Given the description of an element on the screen output the (x, y) to click on. 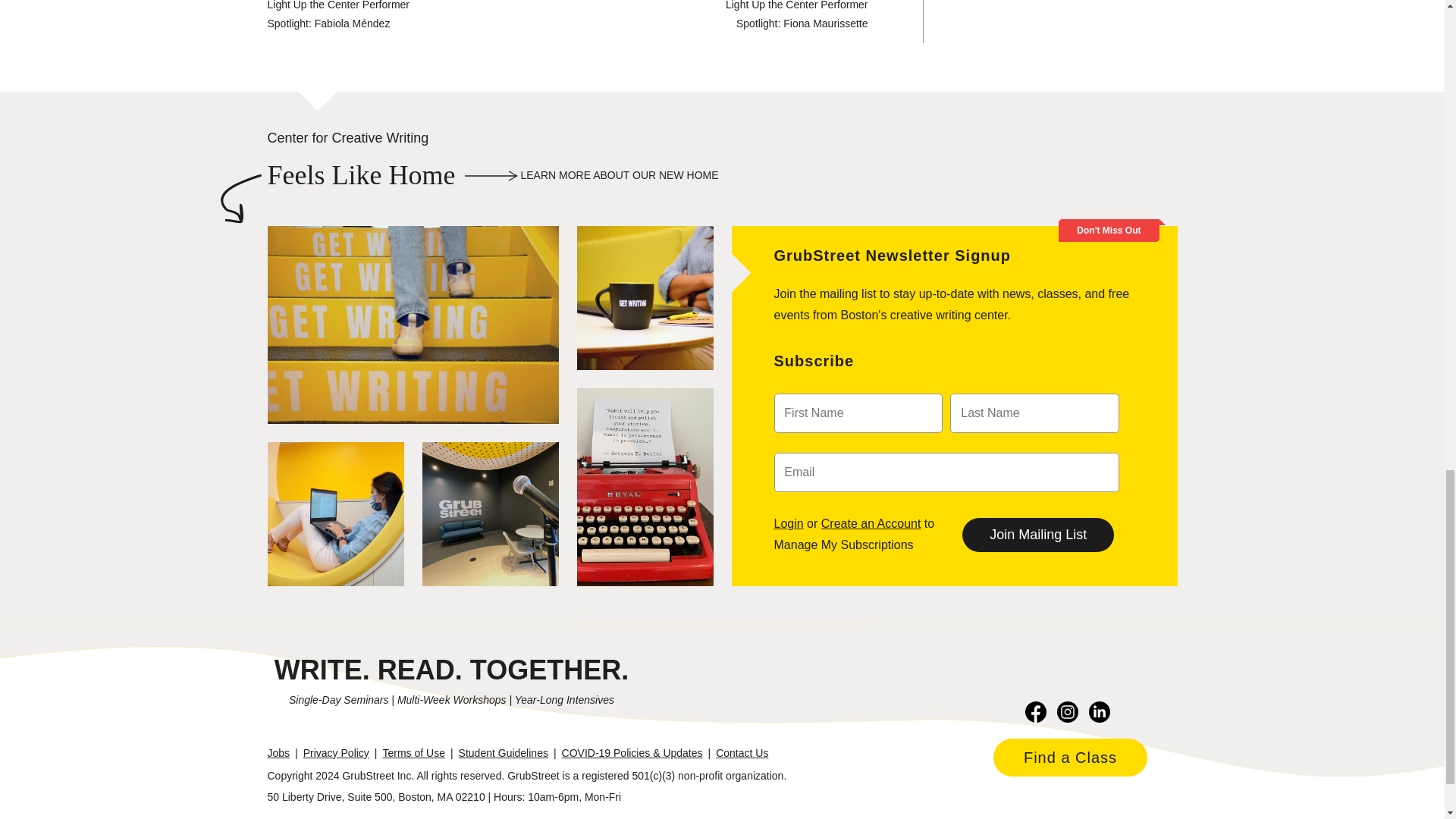
Join Mailing List (1037, 534)
